Given the description of an element on the screen output the (x, y) to click on. 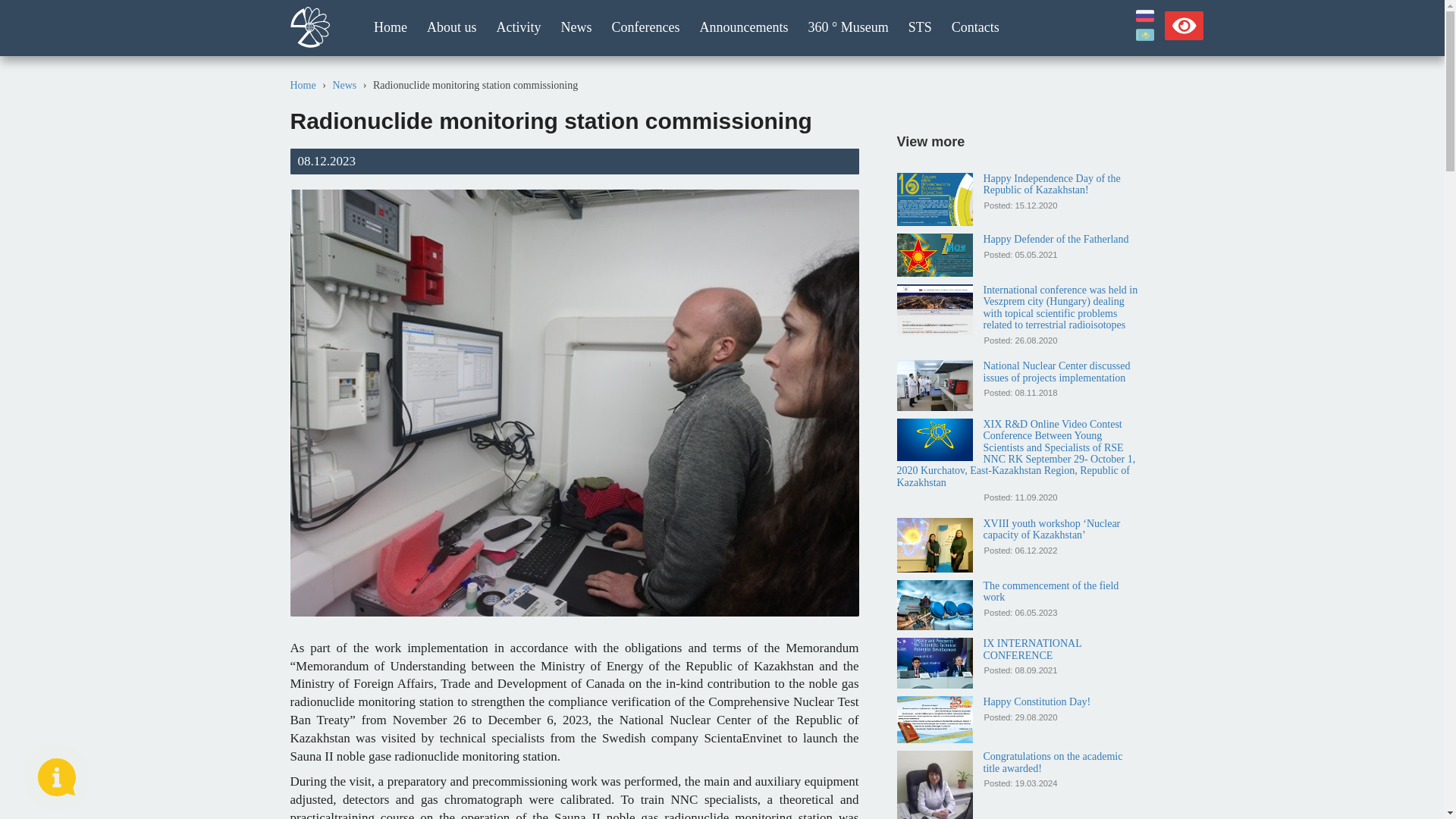
News (575, 28)
News (343, 84)
Home (390, 28)
Happy Independence Day of the Republic of Kazakhstan! (1050, 183)
Happy Defender of the Fatherland (1055, 238)
Announcements (742, 28)
About us (451, 28)
Conferences (646, 28)
Home (302, 84)
Activity (518, 28)
Contacts (975, 28)
